Given the description of an element on the screen output the (x, y) to click on. 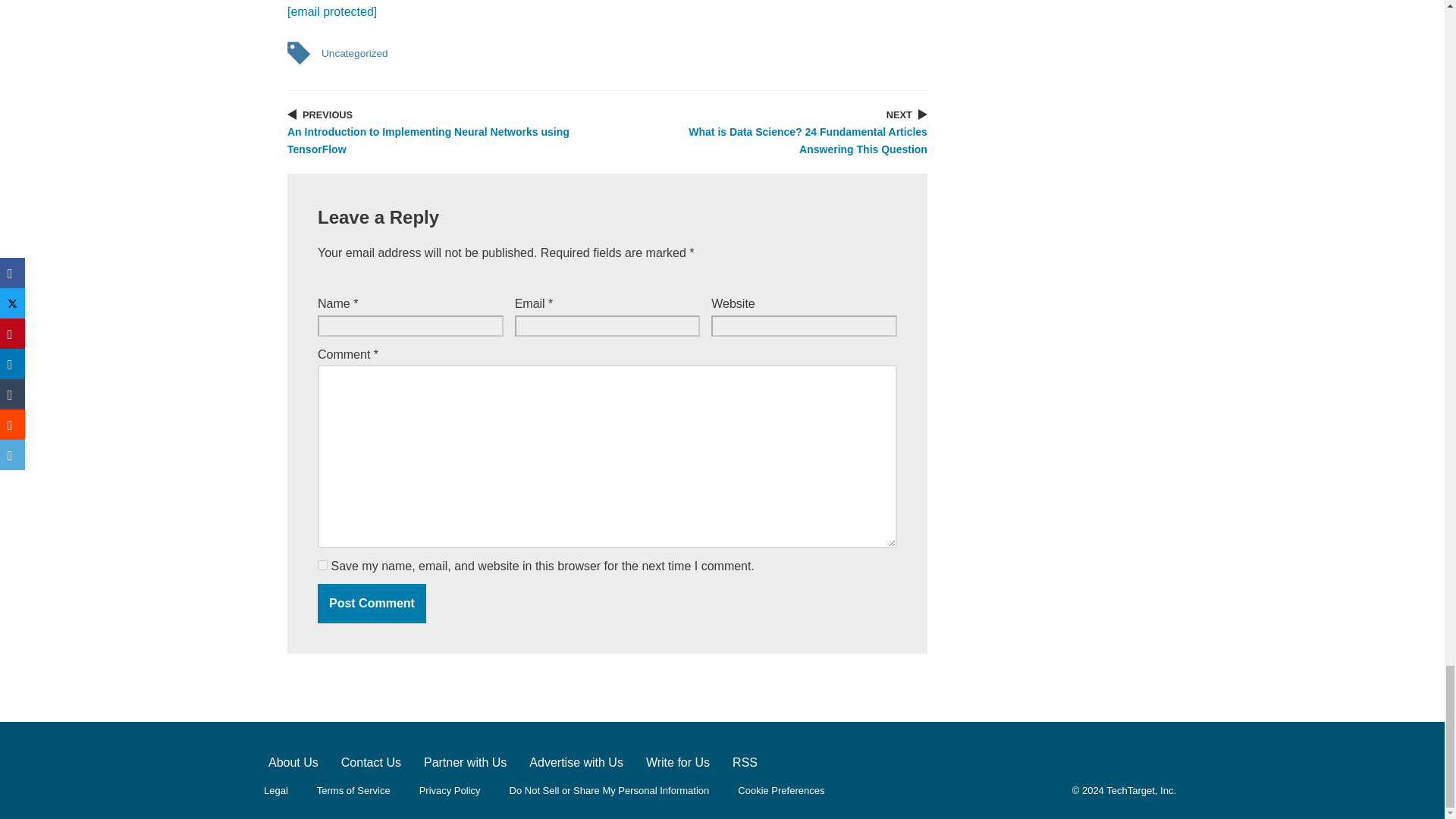
yes (322, 565)
Uncategorized (354, 53)
Post Comment (371, 603)
